Given the description of an element on the screen output the (x, y) to click on. 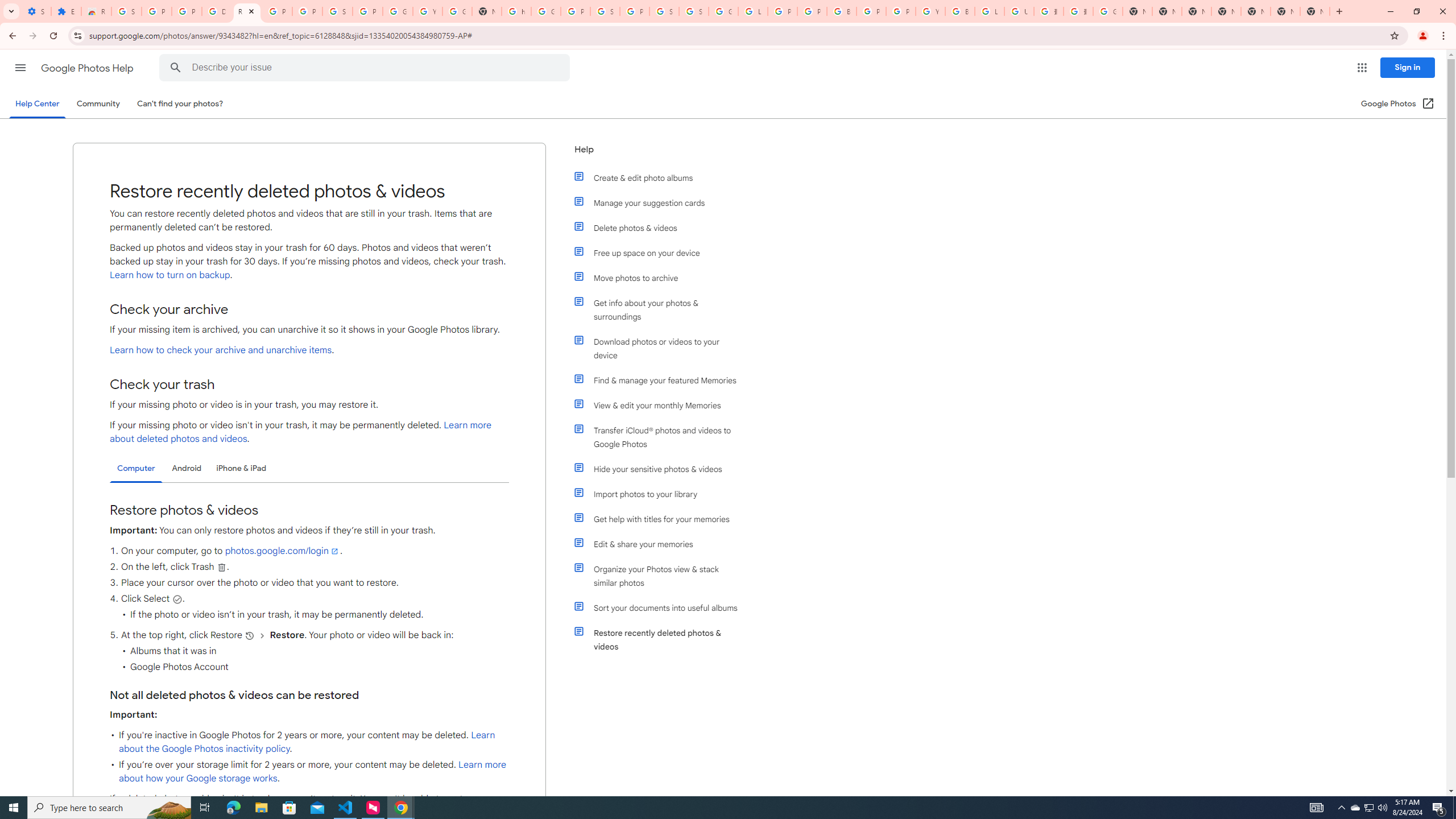
Sign in - Google Accounts (604, 11)
Learn more about deleted photos and videos (300, 431)
Restore recently deleted photos & videos (661, 639)
Help Center (36, 103)
and then (262, 635)
Can't find your photos? (180, 103)
Download photos or videos to your device (661, 348)
https://scholar.google.com/ (515, 11)
Community (97, 103)
Delete photos & videos - Computer - Google Photos Help (216, 11)
iPhone & iPad (240, 468)
